Given the description of an element on the screen output the (x, y) to click on. 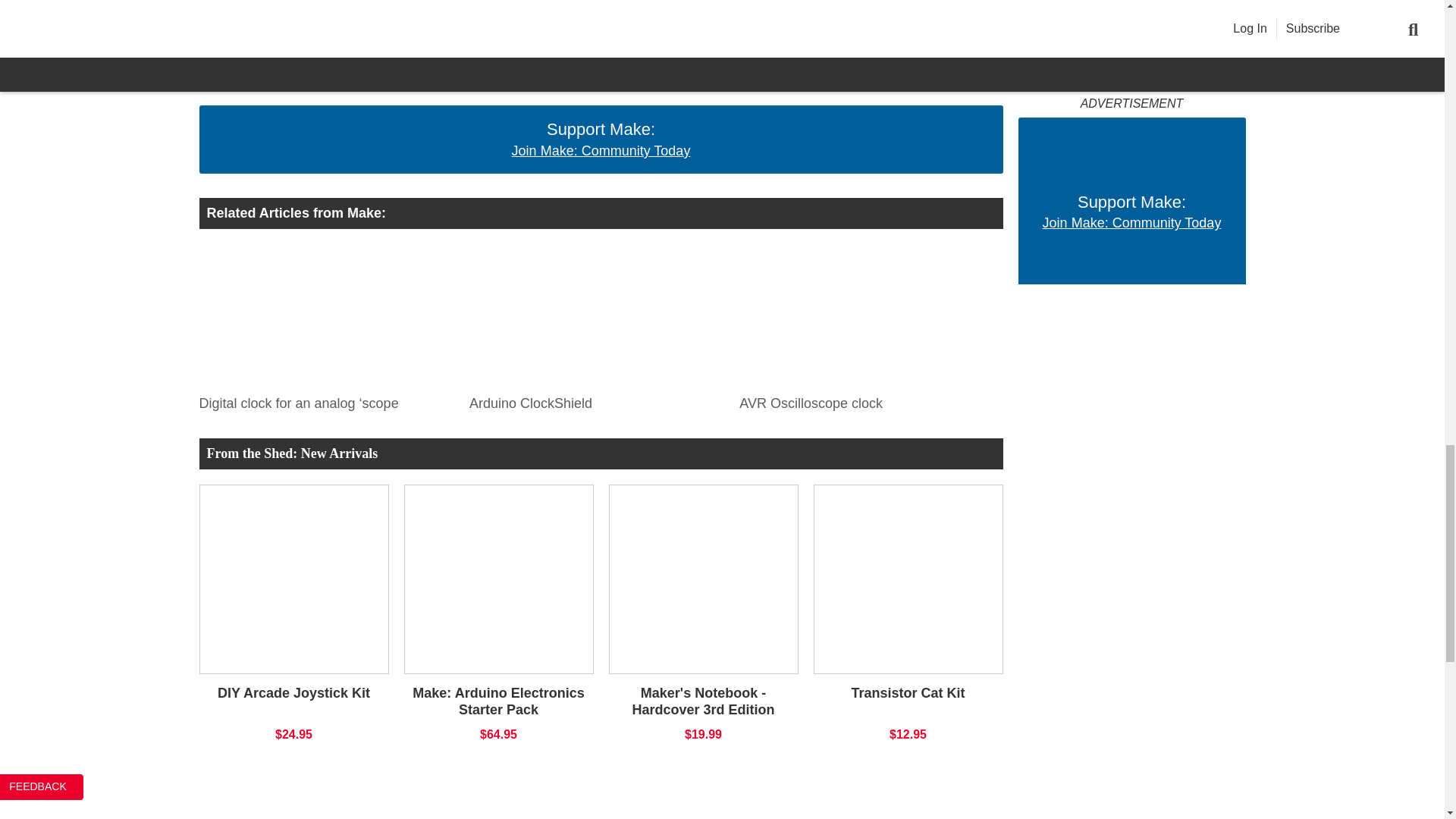
AVR Oscilloscope clock (866, 400)
Arduino ClockShield (595, 315)
Arduino ClockShield (595, 400)
AVR Oscilloscope clock (866, 315)
